Given the description of an element on the screen output the (x, y) to click on. 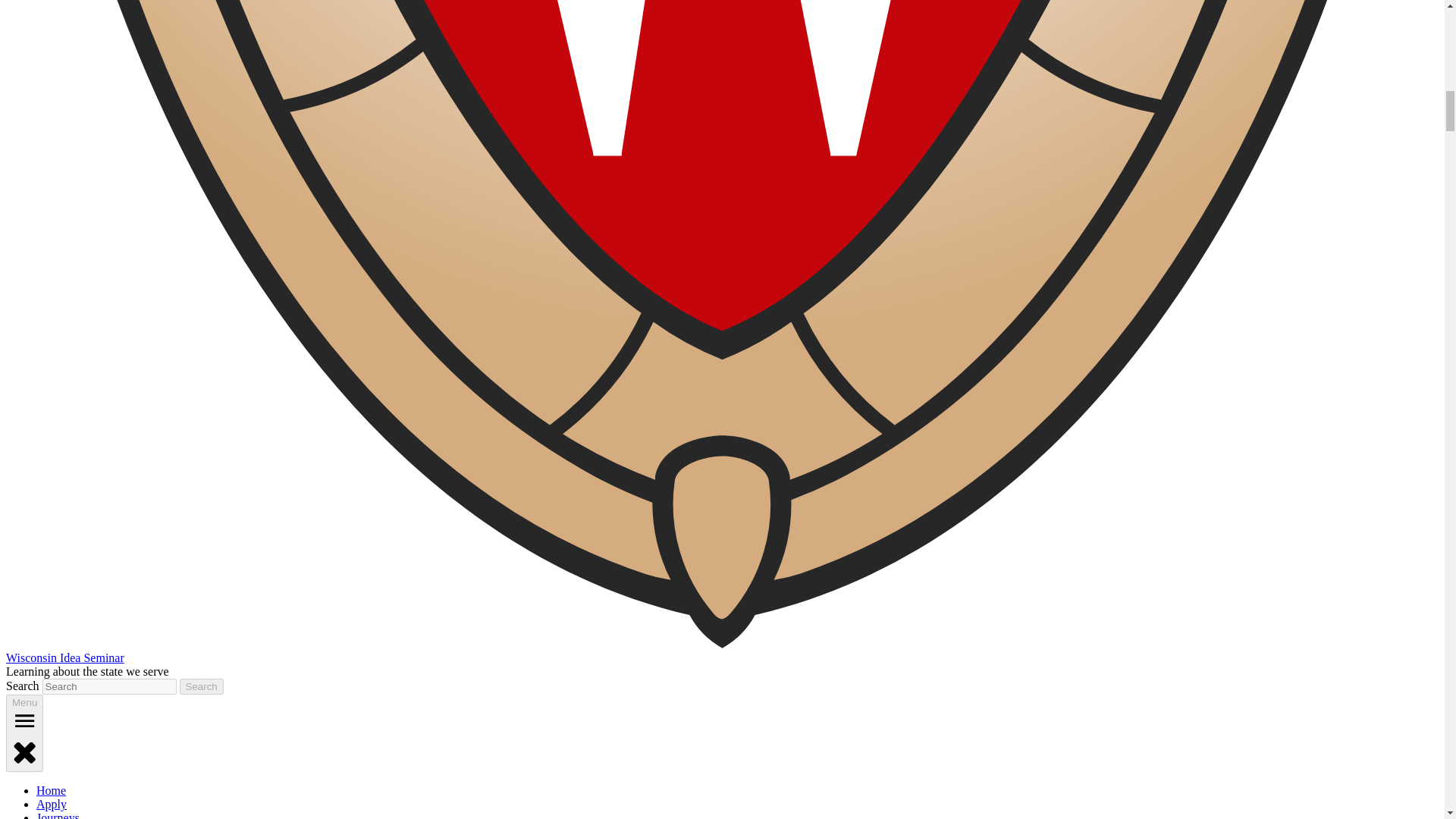
open menu (24, 720)
Search (201, 686)
Search (201, 686)
Menu open menu close (24, 733)
close (24, 751)
Apply (51, 803)
Wisconsin Idea Seminar (64, 657)
Home (50, 789)
Search (201, 686)
